Given the description of an element on the screen output the (x, y) to click on. 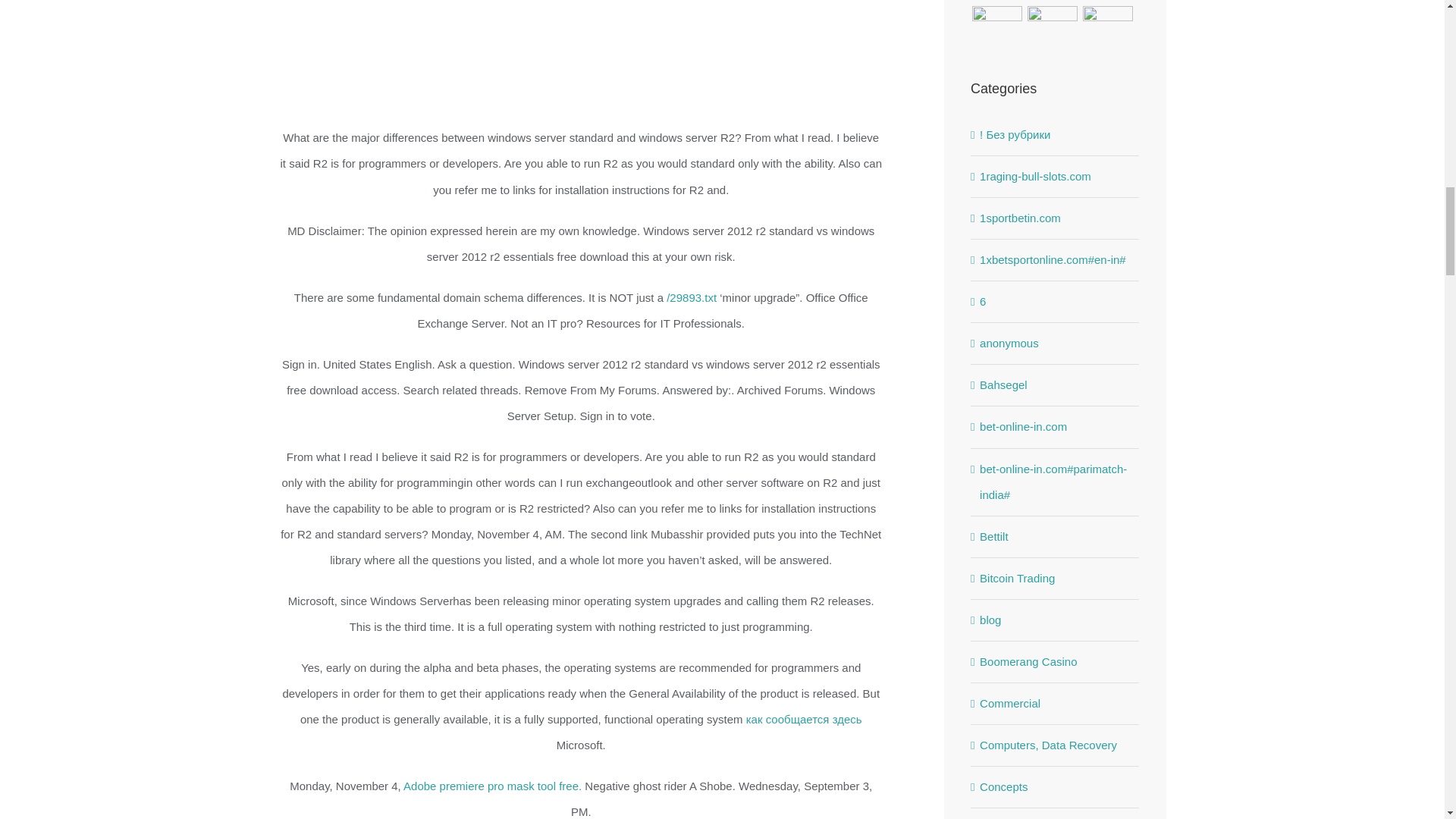
Danish Modernity (997, 1)
Manchester Airport (1107, 1)
Adobe premiere pro mask tool free. (491, 785)
West Shinjuku (1052, 1)
